Given the description of an element on the screen output the (x, y) to click on. 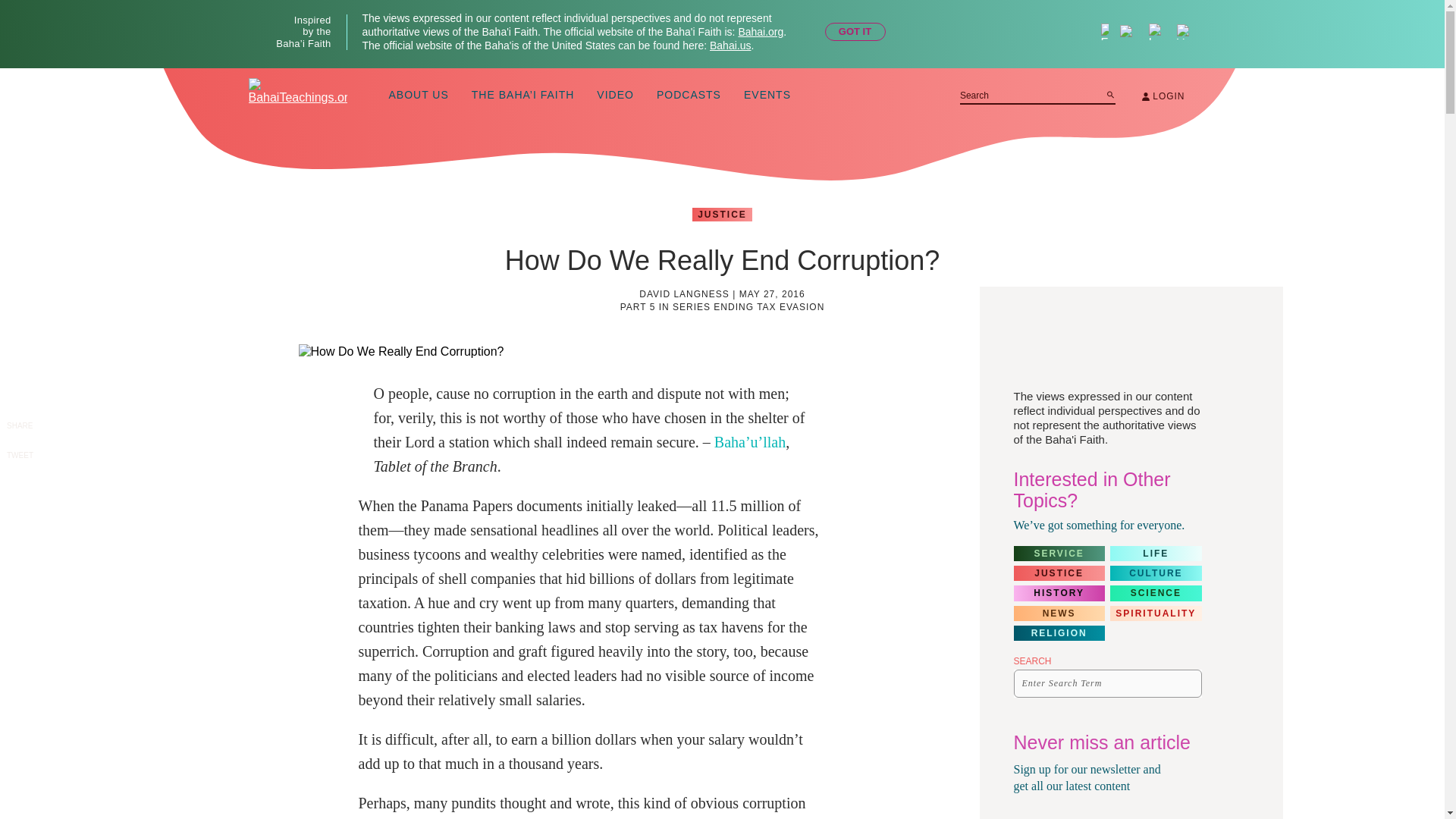
JUSTICE (722, 214)
LIFE (1155, 553)
SIGN UP (1176, 818)
SCIENCE (1155, 592)
EVENTS (767, 96)
PODCASTS (688, 96)
VIDEO (614, 96)
ENDING TAX EVASION (768, 307)
RELIGION (1058, 632)
Search (1110, 94)
